Given the description of an element on the screen output the (x, y) to click on. 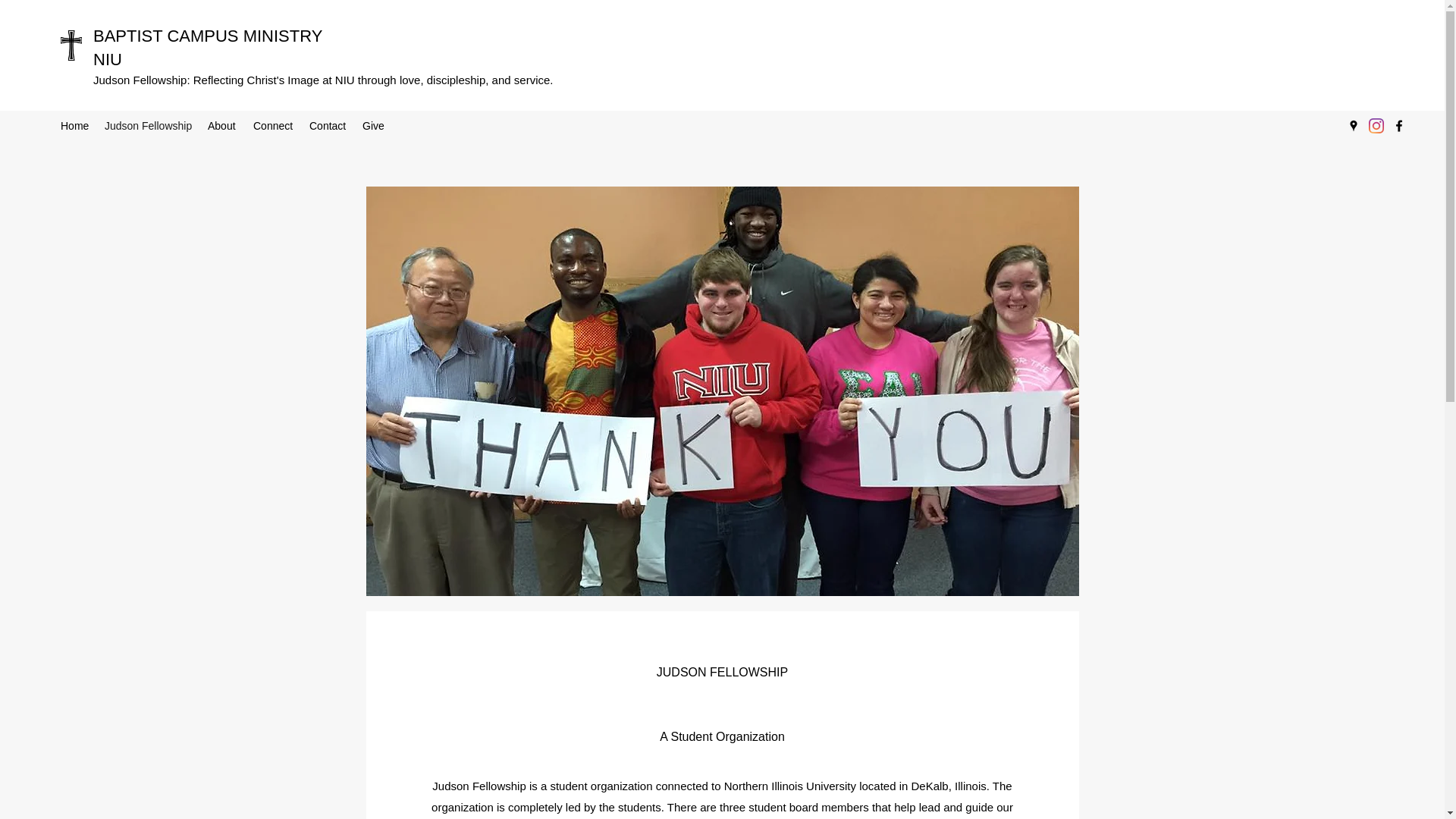
BAPTIST CAMPUS MINISTRY NIU (207, 47)
Home (74, 125)
Judson Fellowship:  (143, 79)
Connect (273, 125)
Contact (328, 125)
Give (373, 125)
Judson Fellowship (148, 125)
About (223, 125)
